Given the description of an element on the screen output the (x, y) to click on. 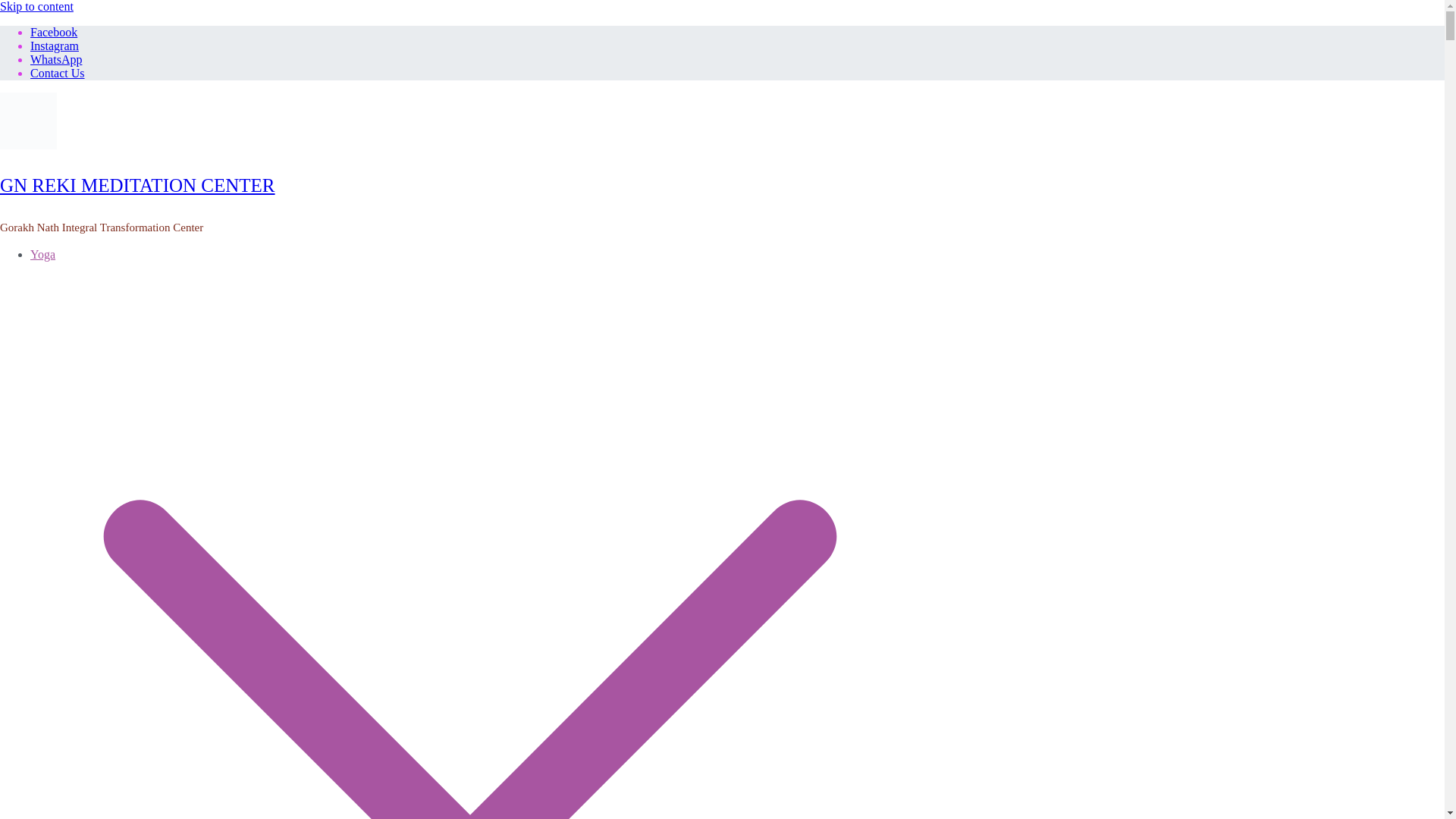
Skip to content (37, 6)
WhatsApp (55, 59)
Facebook (53, 31)
Instagram (54, 45)
Contact Us (57, 72)
GN REKI MEDITATION CENTER (137, 185)
